Given the description of an element on the screen output the (x, y) to click on. 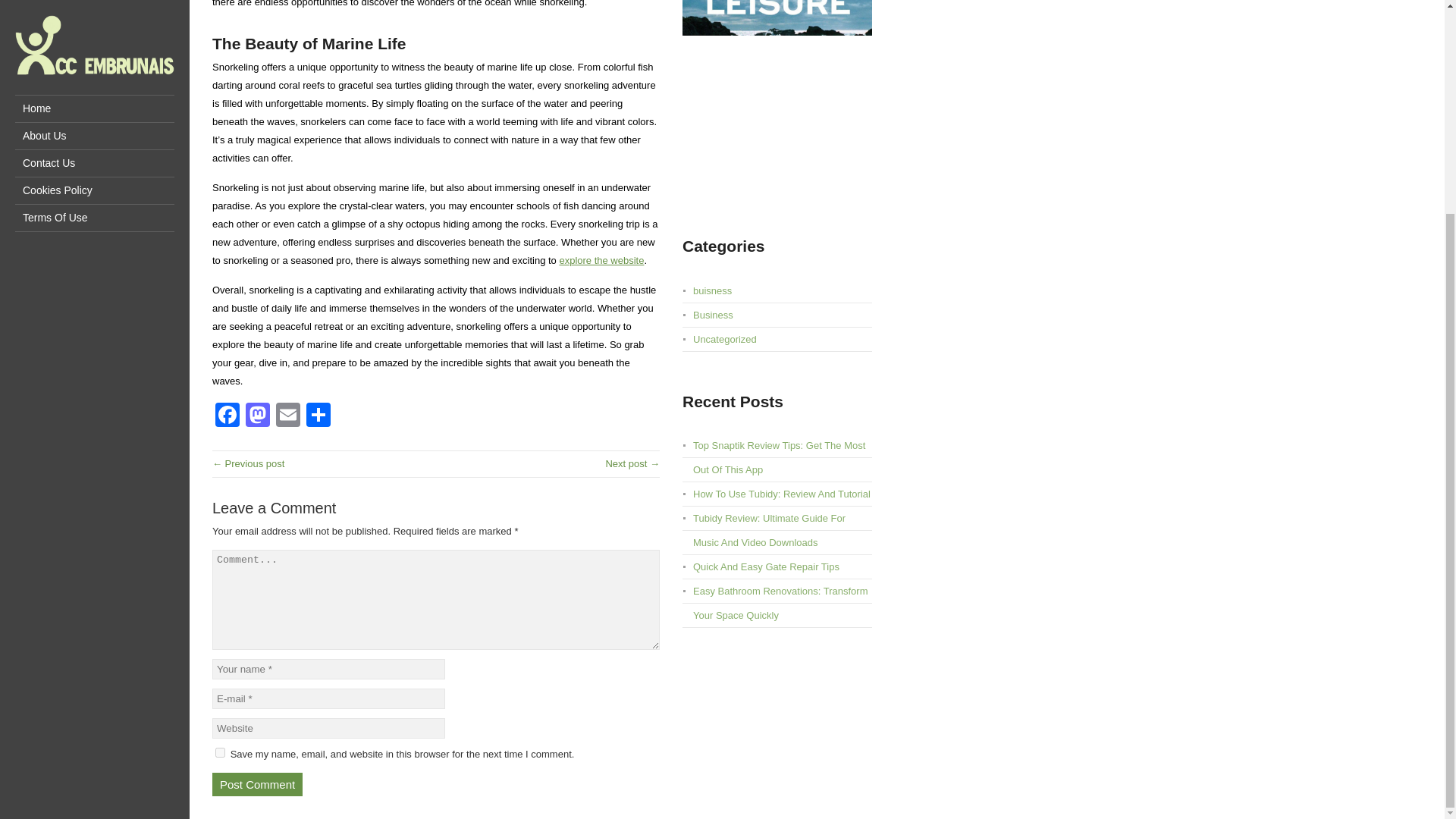
Tubidy Review: Ultimate Guide For Music And Video Downloads (769, 529)
Post Comment (257, 784)
Business (713, 315)
yes (220, 752)
Mastodon (258, 416)
Email (287, 416)
How To Use Tubidy: Review And Tutorial (781, 493)
Facebook (227, 416)
Mastodon (258, 416)
Easy Bathroom Renovations: Transform Your Space Quickly (780, 602)
